Given the description of an element on the screen output the (x, y) to click on. 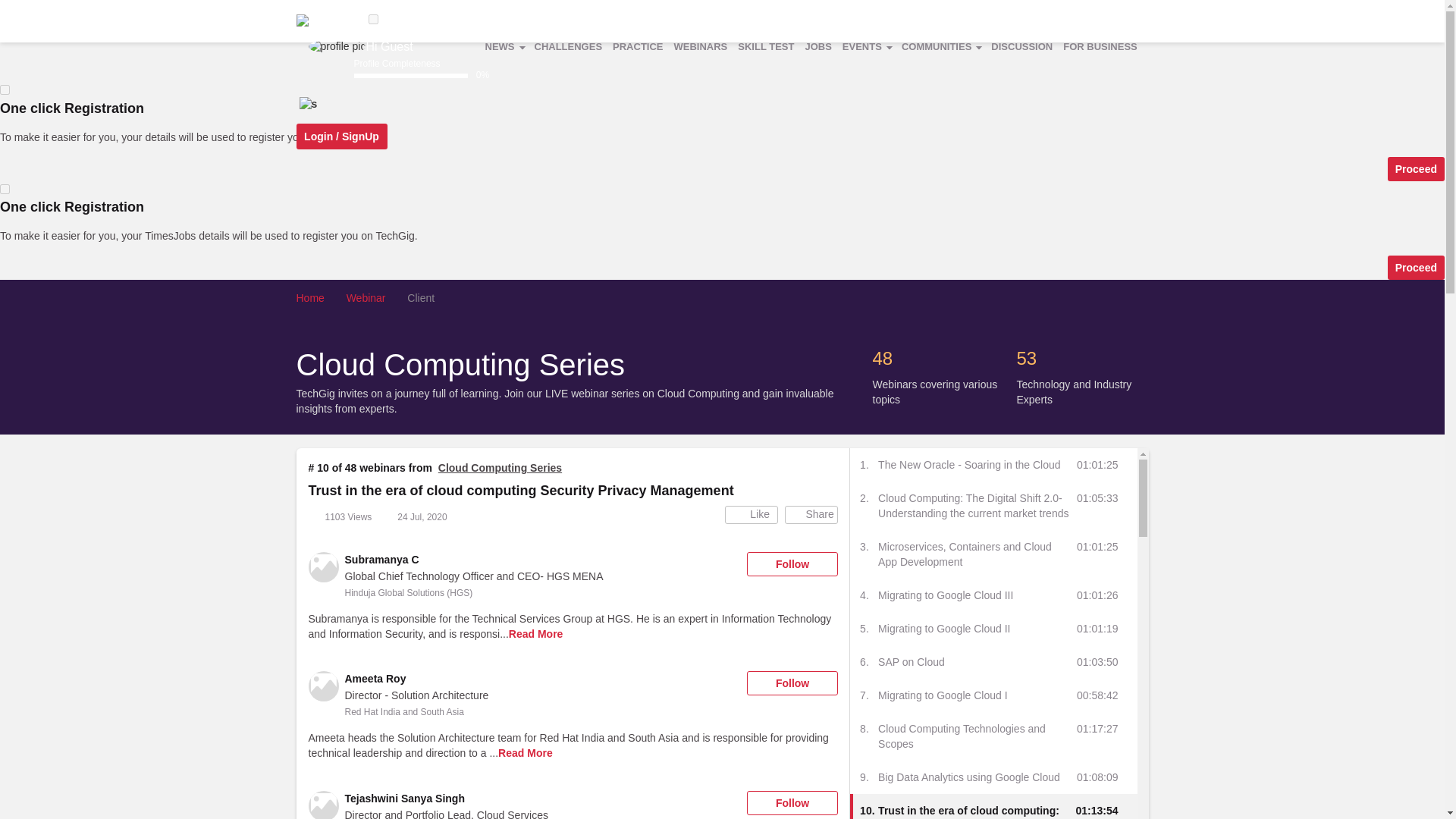
NEWS (503, 46)
PRACTICE (637, 46)
SKILL TEST (765, 46)
EVENTS (866, 46)
Follow Speaker (792, 682)
on (5, 189)
on (5, 90)
Follow Speaker (792, 564)
COMMUNITIES (940, 46)
Follow Speaker (792, 802)
